Given the description of an element on the screen output the (x, y) to click on. 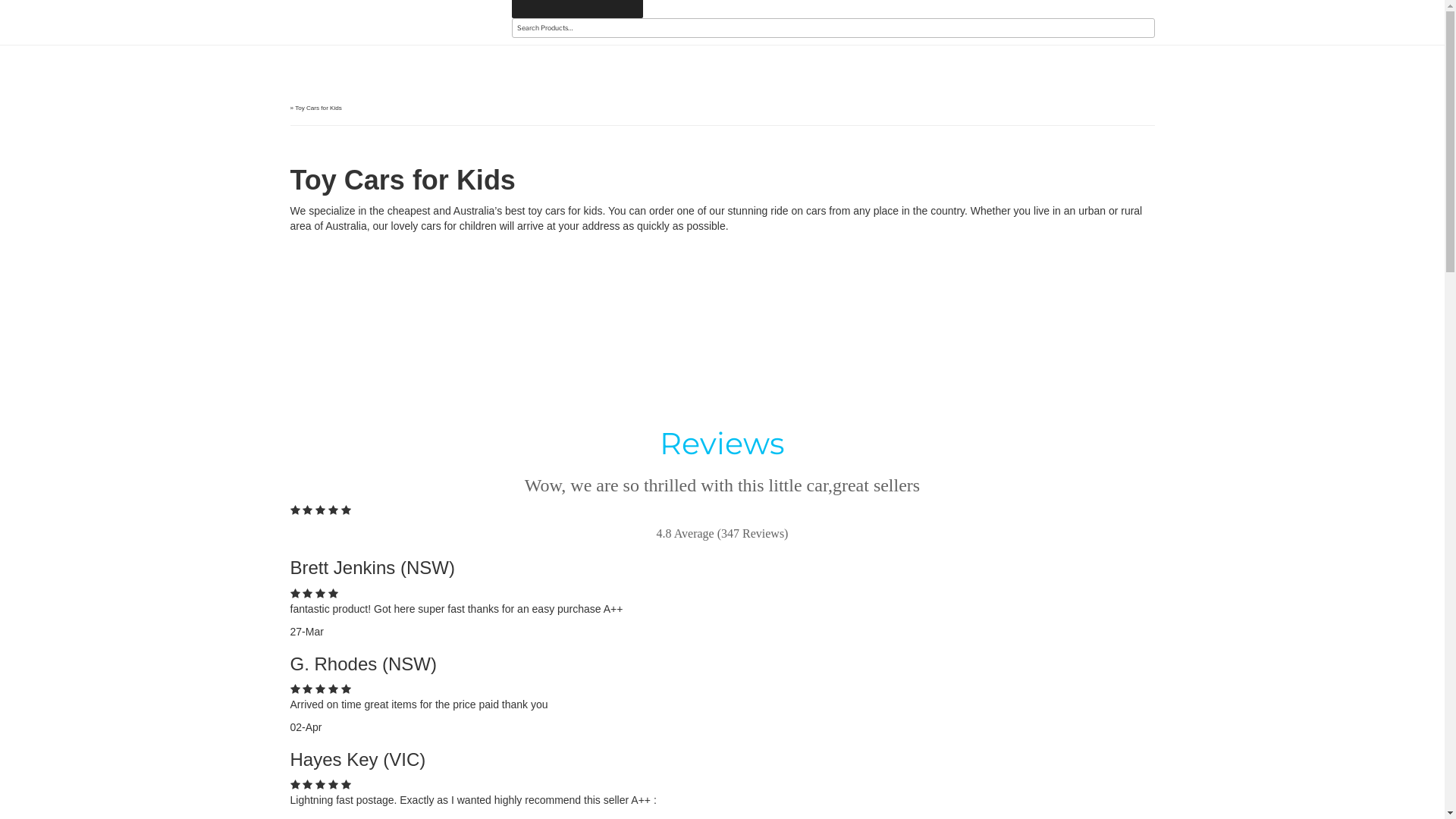
Search for: Element type: hover (832, 28)
